Given the description of an element on the screen output the (x, y) to click on. 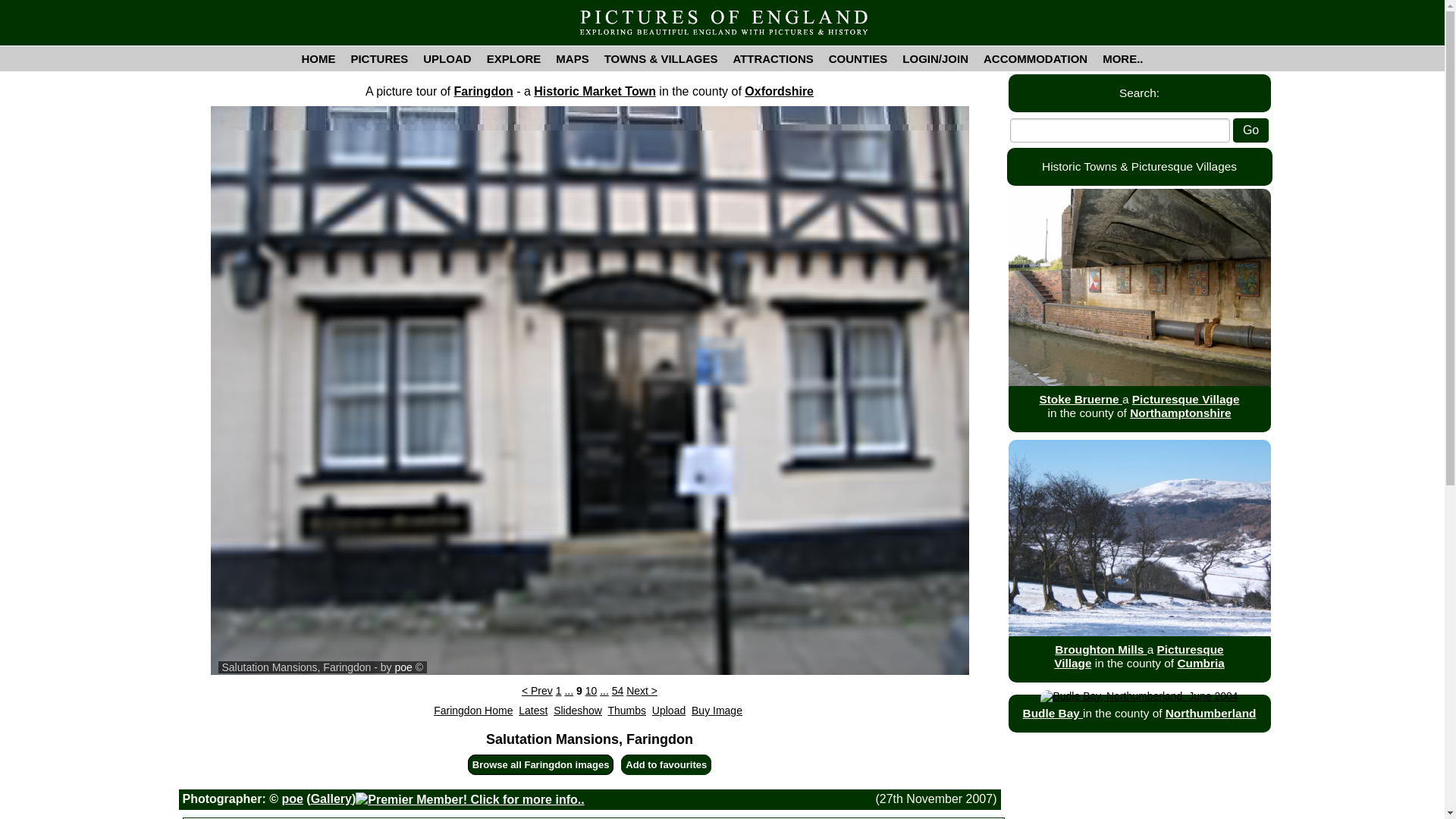
MORE.. (1122, 58)
Click to buy this photo of Faringdon (716, 710)
Go (1250, 129)
Picturesque Village (1186, 399)
COUNTIES (858, 58)
Northamptonshire (1179, 412)
Go (1250, 129)
UPLOAD (446, 58)
EXPLORE (513, 58)
MAPS (571, 58)
PICTURES (378, 58)
HOME (318, 58)
ACCOMMODATION (1034, 58)
ATTRACTIONS (773, 58)
Go (1250, 129)
